Given the description of an element on the screen output the (x, y) to click on. 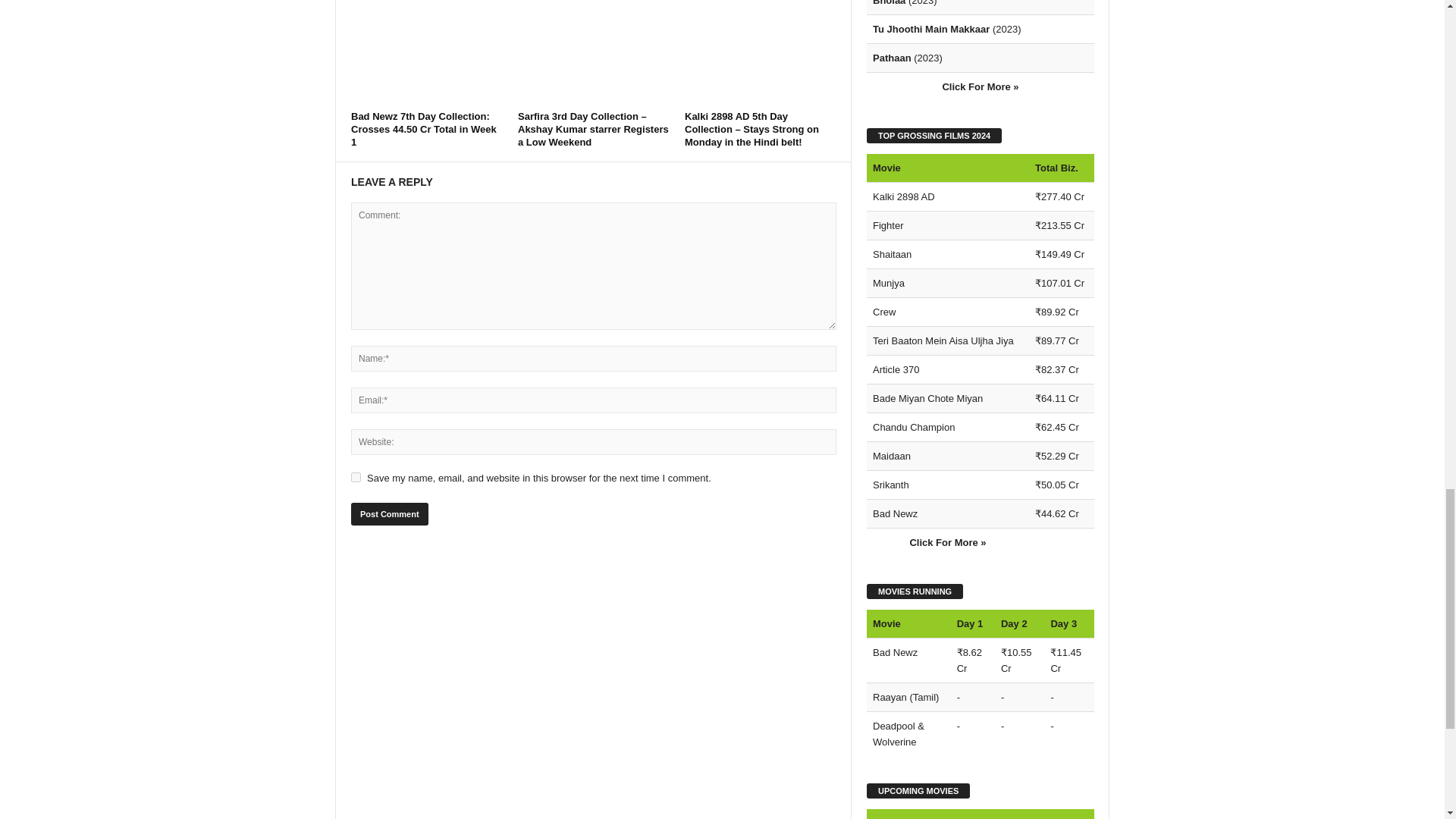
Post Comment (389, 513)
yes (355, 477)
